Given the description of an element on the screen output the (x, y) to click on. 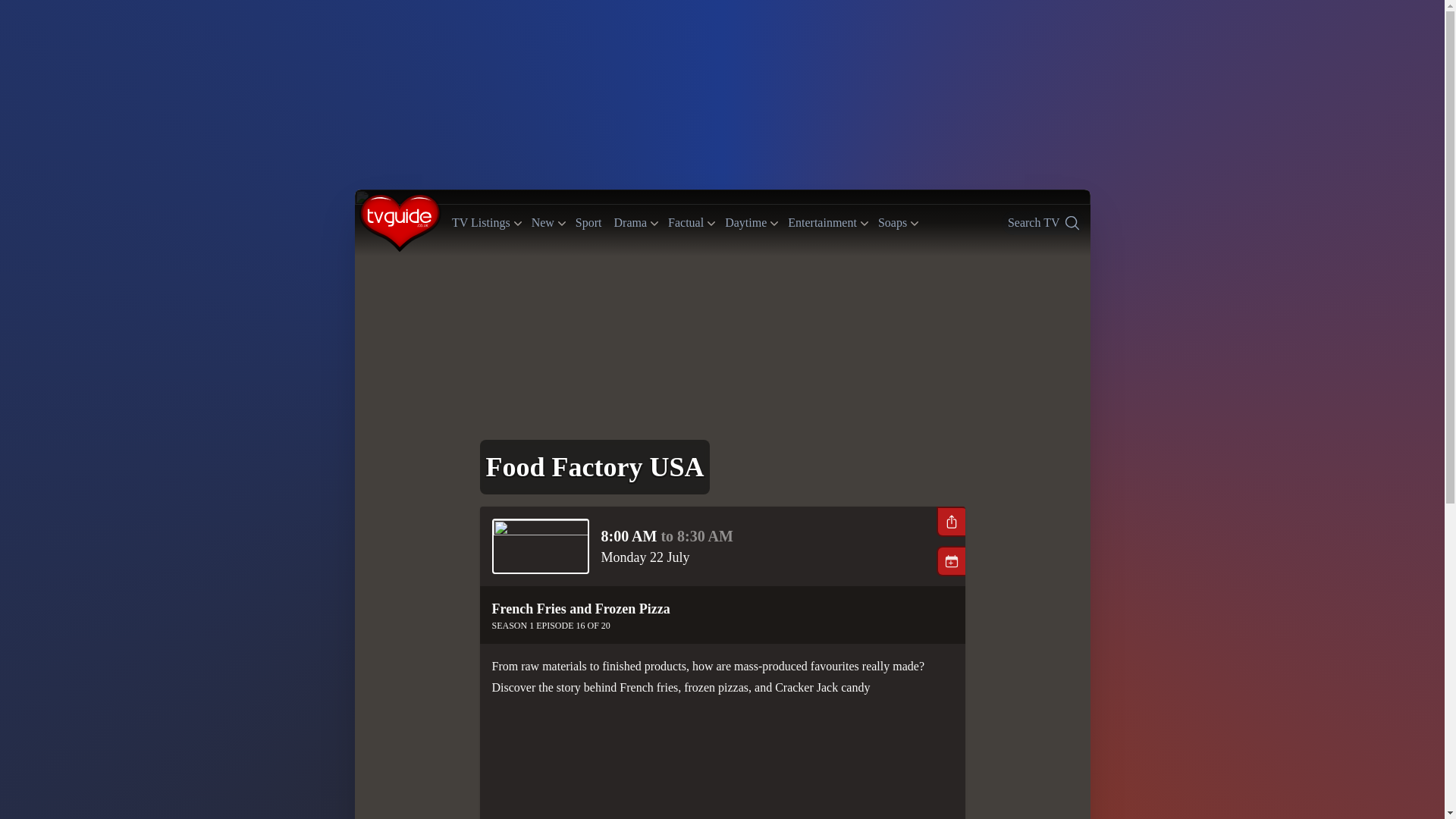
Sport (588, 222)
Drama (1042, 222)
Daytime (630, 223)
TV Listings (746, 223)
New (480, 223)
Soaps (542, 223)
Entertainment (892, 223)
Factual (822, 223)
Search TV Guide (686, 223)
